Given the description of an element on the screen output the (x, y) to click on. 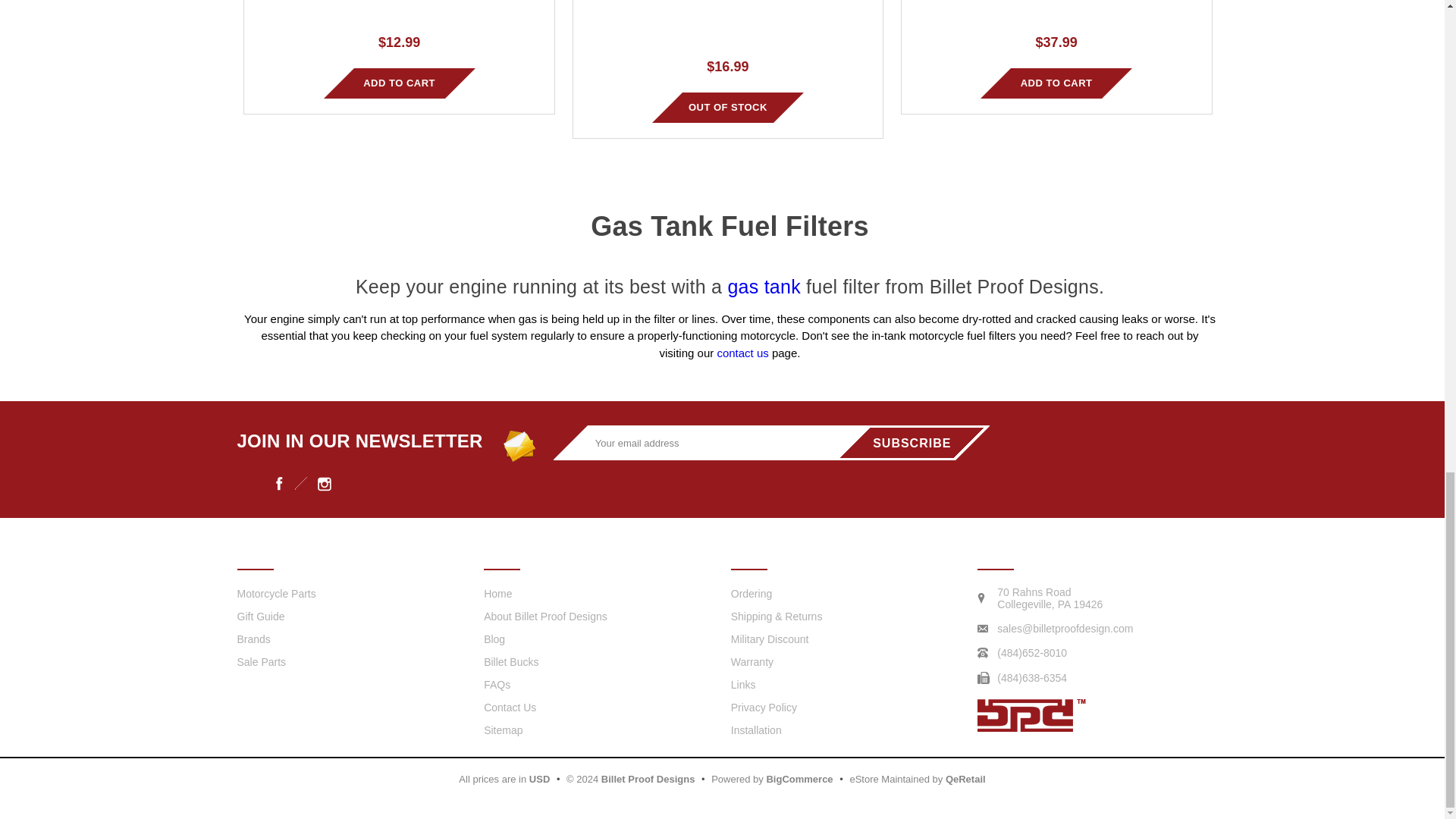
Subscribe (912, 442)
